Given the description of an element on the screen output the (x, y) to click on. 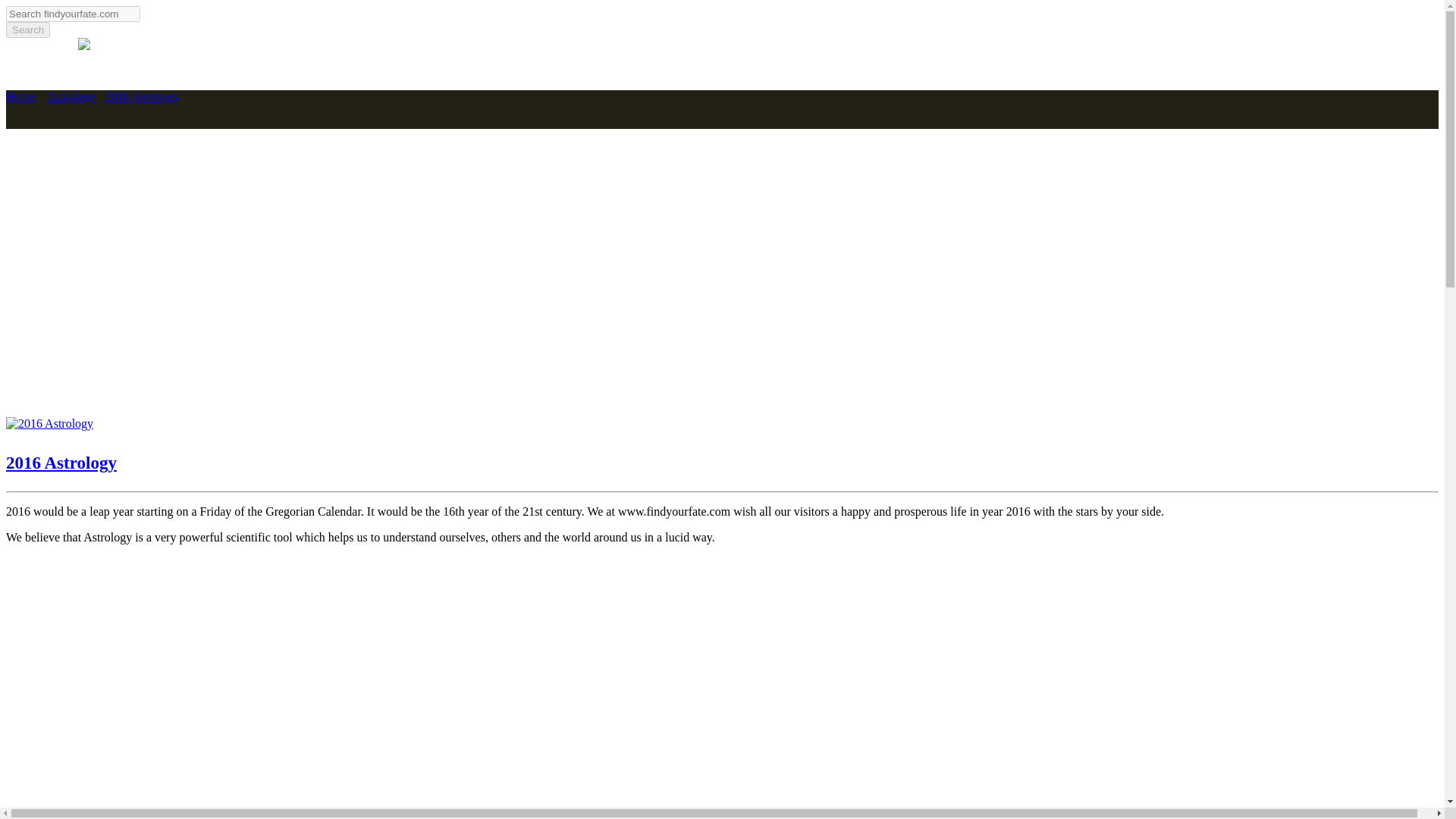
Home (19, 96)
Search (27, 29)
Search (27, 29)
2016 Astrology (141, 96)
Astrology (72, 96)
Search (27, 29)
2016 Astrology (49, 423)
2016 Astrology (60, 462)
